Given the description of an element on the screen output the (x, y) to click on. 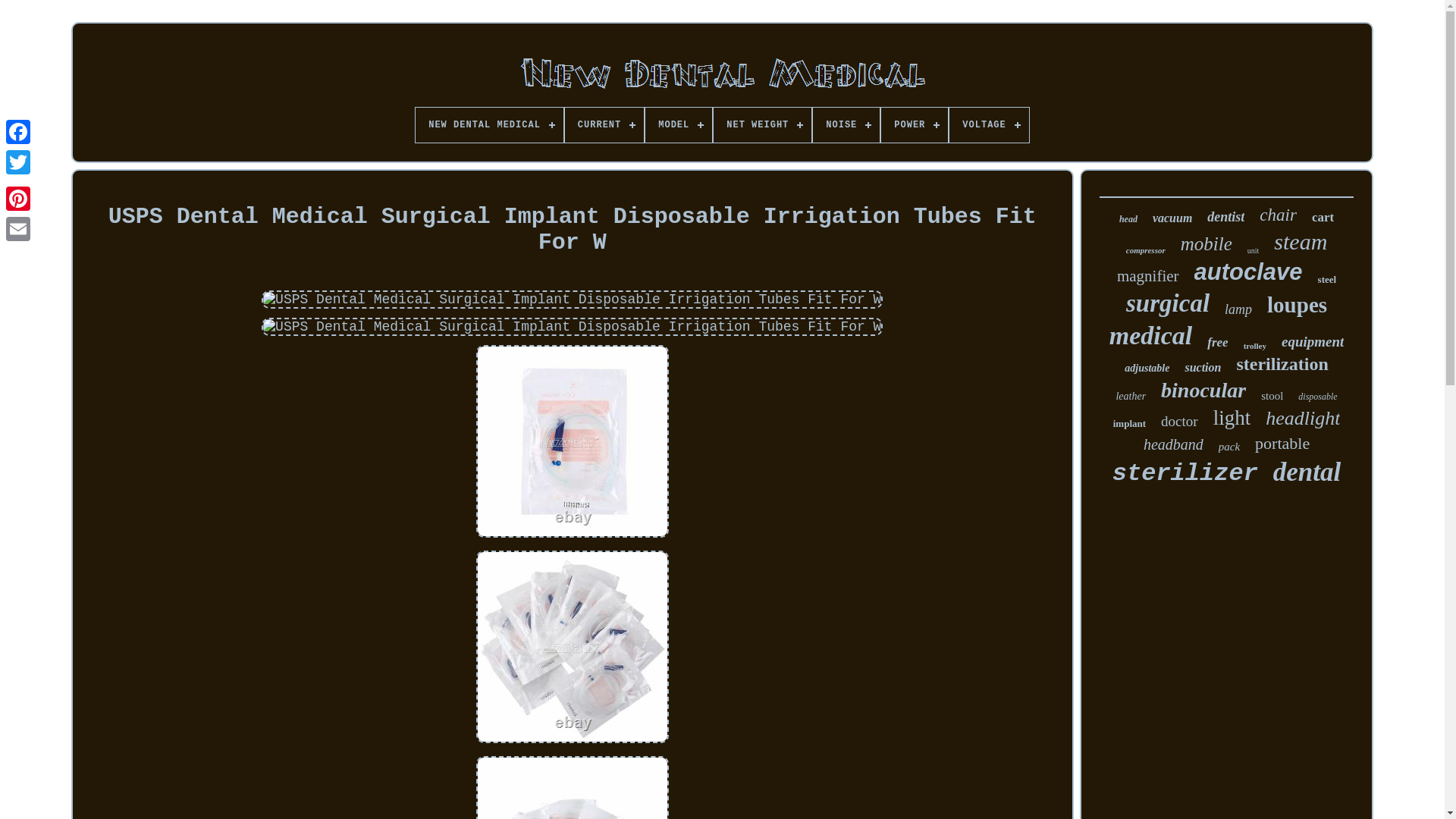
MODEL (678, 124)
NEW DENTAL MEDICAL (488, 124)
CURRENT (603, 124)
NET WEIGHT (761, 124)
